Given the description of an element on the screen output the (x, y) to click on. 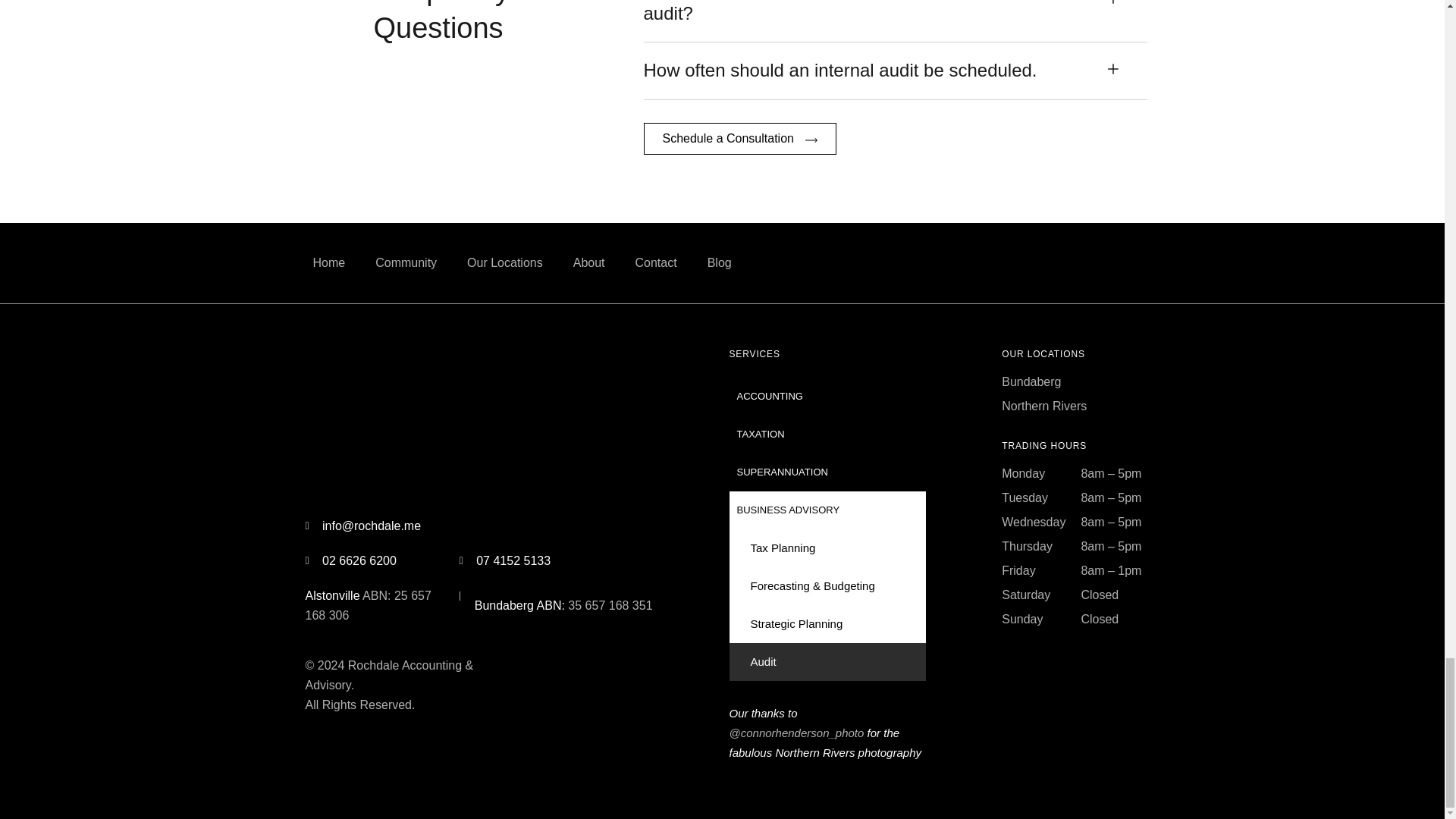
www.localsearch.com.au (1096, 262)
Find Us On Facebook (1040, 262)
Xero Gold Partner (615, 421)
business.localsearch.com.au (565, 674)
Find Us On GMB (1069, 262)
